Given the description of an element on the screen output the (x, y) to click on. 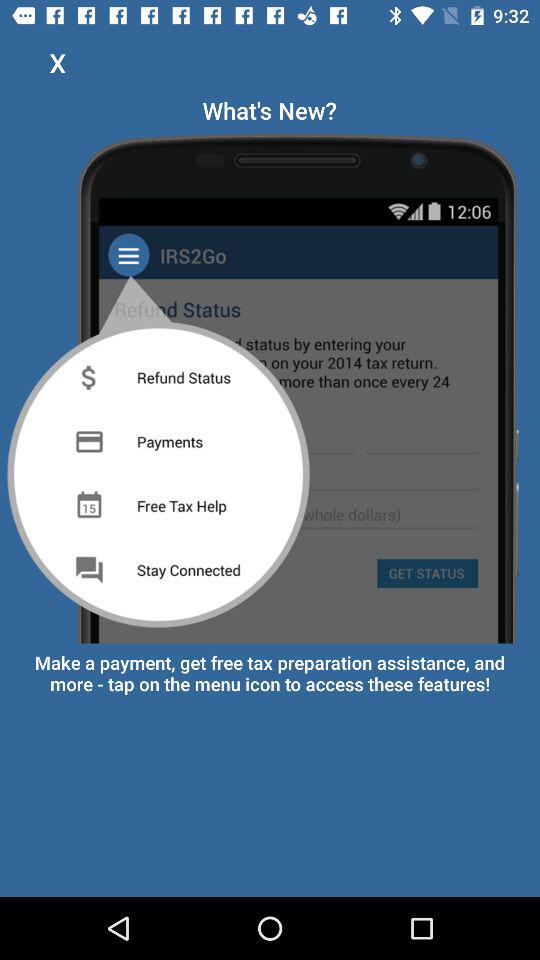
press the icon at the center (270, 384)
